Given the description of an element on the screen output the (x, y) to click on. 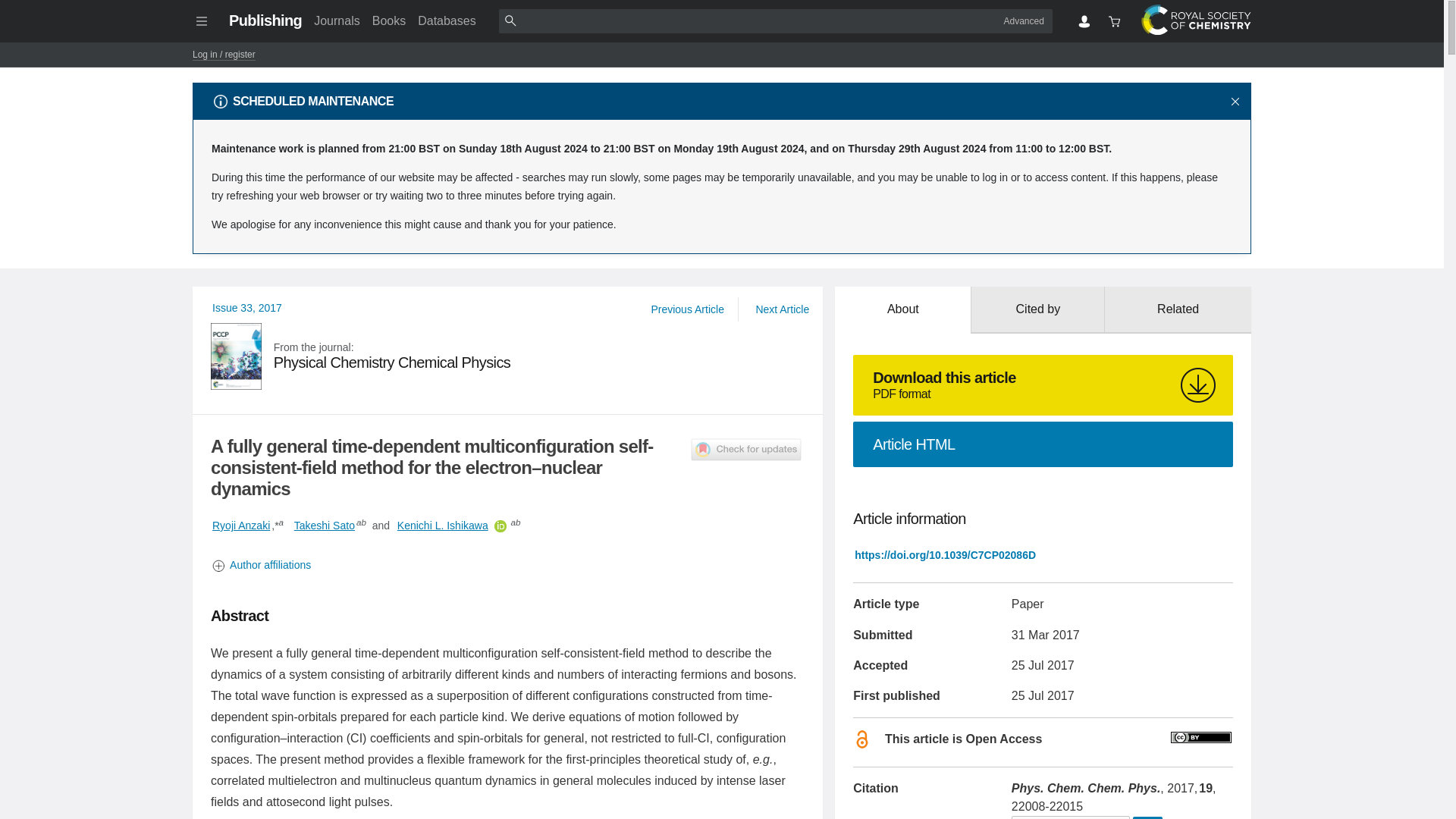
Issue 33, 2017 (247, 307)
Advanced (1023, 20)
Journals (336, 20)
Databases (446, 20)
Ryoji Anzaki (240, 525)
Previous Article (508, 355)
Go (687, 309)
Books (1146, 817)
Next Article (389, 20)
